Given the description of an element on the screen output the (x, y) to click on. 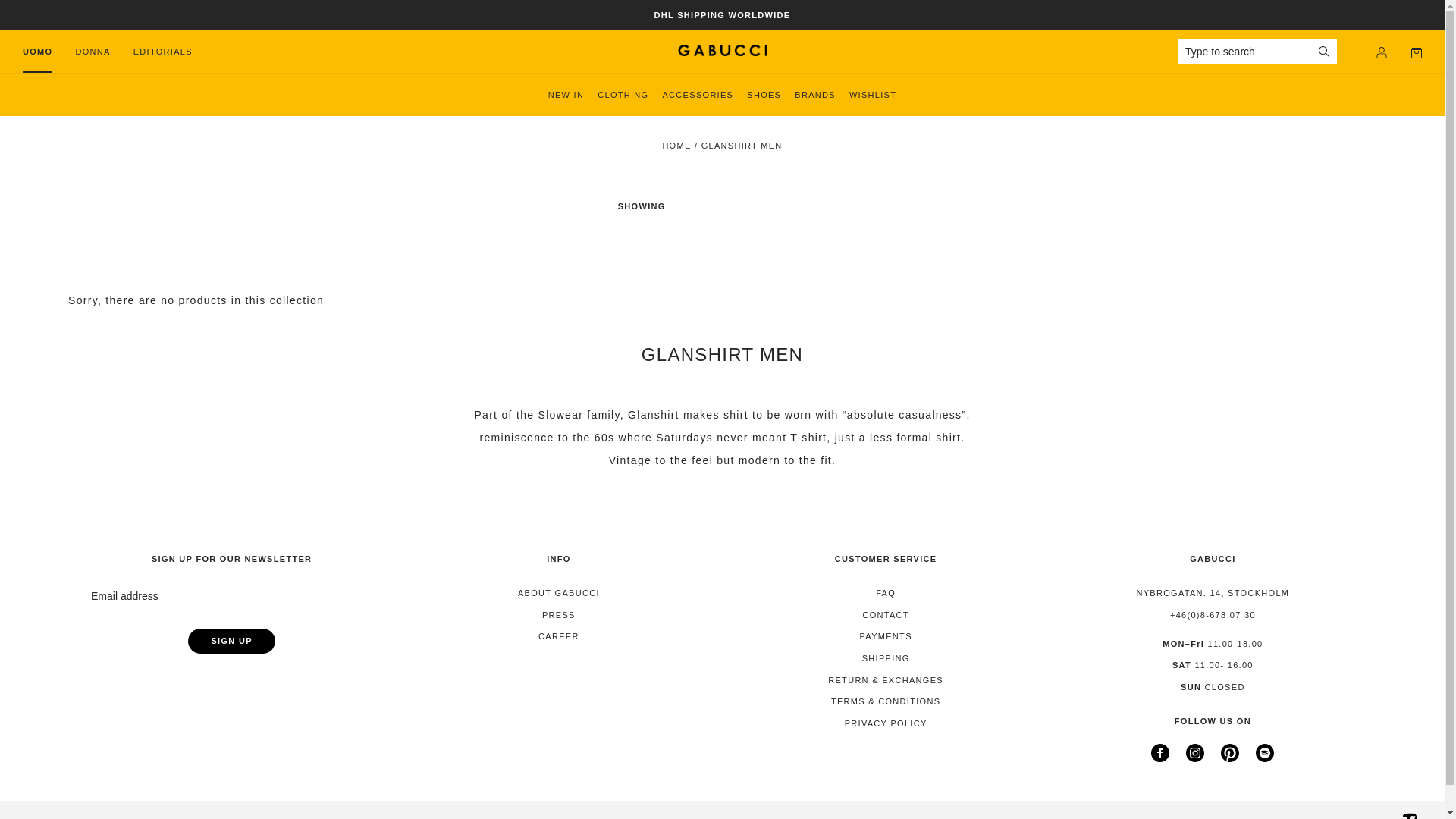
CLOTHING (621, 95)
EDITORIALS (162, 51)
ACCESSORIES (697, 95)
Search (1324, 50)
Gabucci on Instagram (1195, 758)
Gabucci on Pinterest (1230, 758)
Home (676, 144)
Gabucci on Facebook (1160, 758)
